Given the description of an element on the screen output the (x, y) to click on. 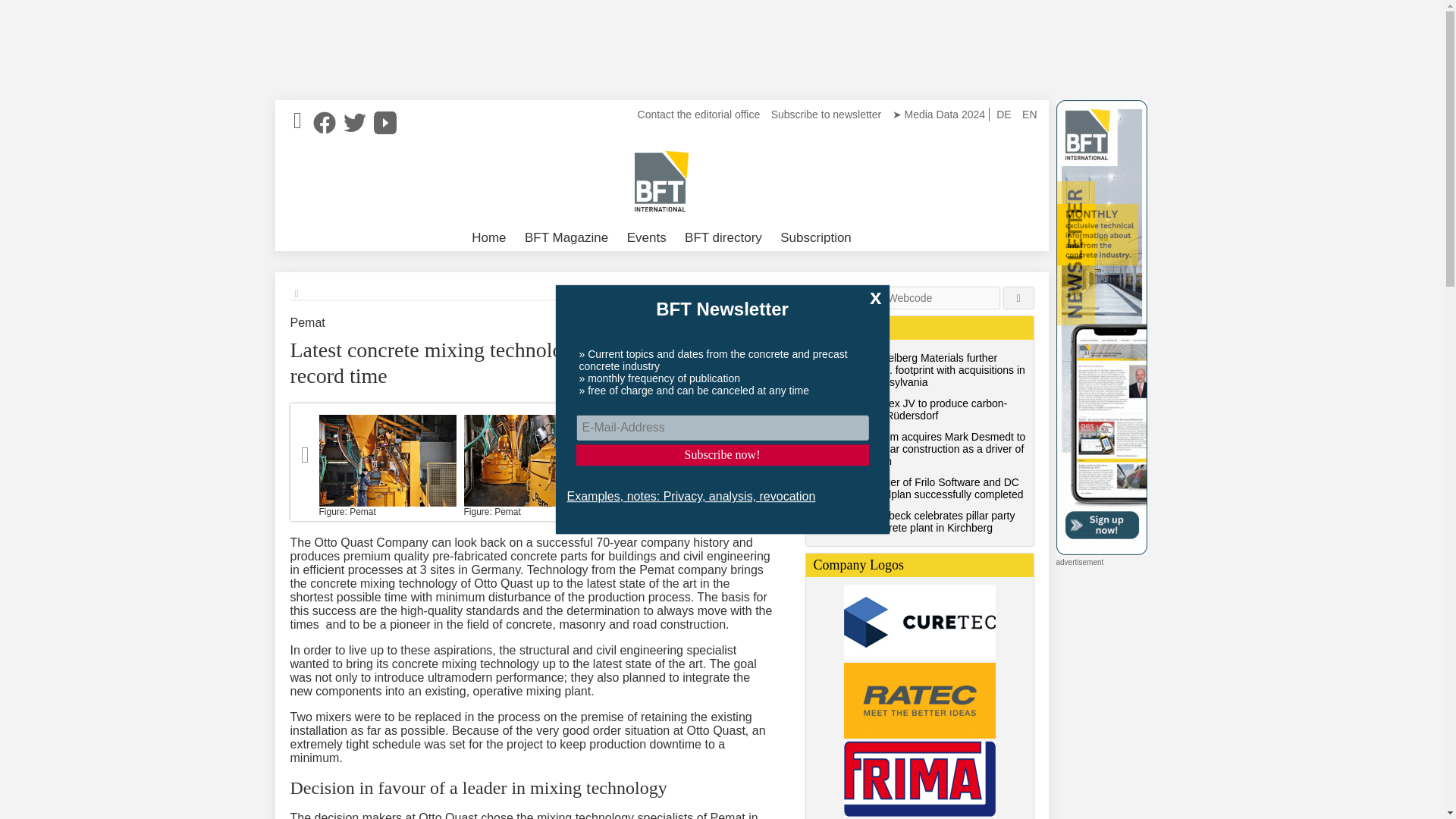
Contact the editorial office (698, 114)
BFT directory (723, 238)
Subscribe now! (722, 455)
Events (647, 238)
Subscribe to newsletter (826, 114)
EN (1029, 114)
BFT Magazine (565, 238)
DE (1003, 114)
Examples, notes: Privacy, analysis, revocation (691, 496)
Home (488, 238)
Search value or Webcode (901, 297)
Subscription (816, 238)
Suchen (1018, 297)
